Given the description of an element on the screen output the (x, y) to click on. 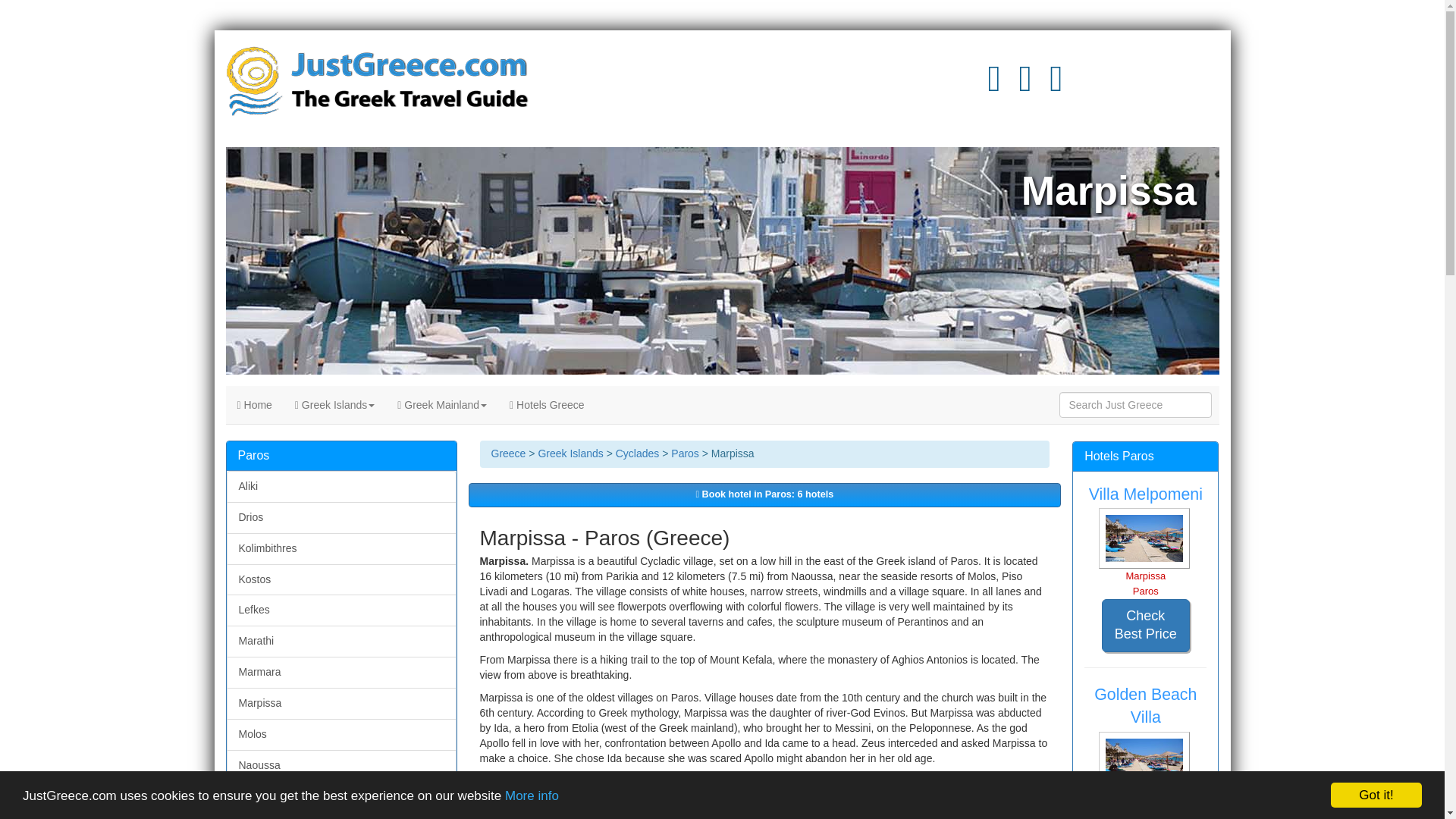
Instagram JustGreece.com (1024, 87)
The Greek Islands (334, 404)
Book hotel in Paros: 6 hotels (764, 494)
The complete Greek travel Guide (254, 404)
Greek Islands (334, 404)
Greek Mainland (441, 404)
Facebook JustGreece.com (1055, 87)
Home (254, 404)
Greek Islands (569, 453)
The Mainland of Greece (441, 404)
Paros (684, 453)
Cyclades (637, 453)
Greece (508, 453)
YouTube JustGreece.com (994, 87)
Hotels Greece (546, 404)
